Given the description of an element on the screen output the (x, y) to click on. 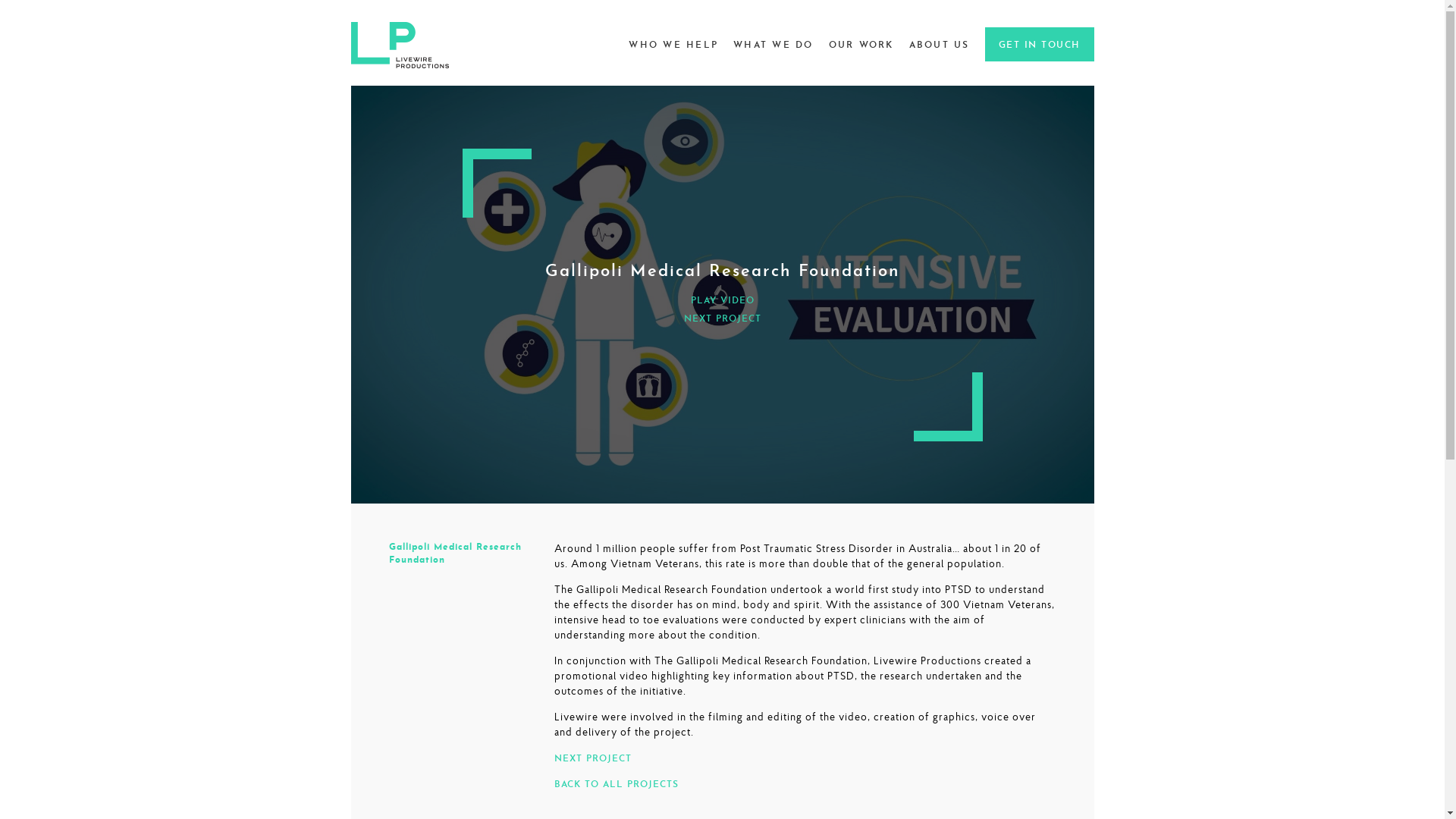
WHO WE HELP Element type: text (673, 45)
PLAY VIDEO Element type: text (721, 301)
NEXT PROJECT Element type: text (722, 319)
BACK TO ALL PROJECTS Element type: text (615, 784)
ABOUT US Element type: text (938, 45)
NEXT PROJECT Element type: text (591, 758)
WHAT WE DO Element type: text (773, 45)
GET IN TOUCH Element type: text (1038, 44)
OUR WORK Element type: text (860, 45)
